Given the description of an element on the screen output the (x, y) to click on. 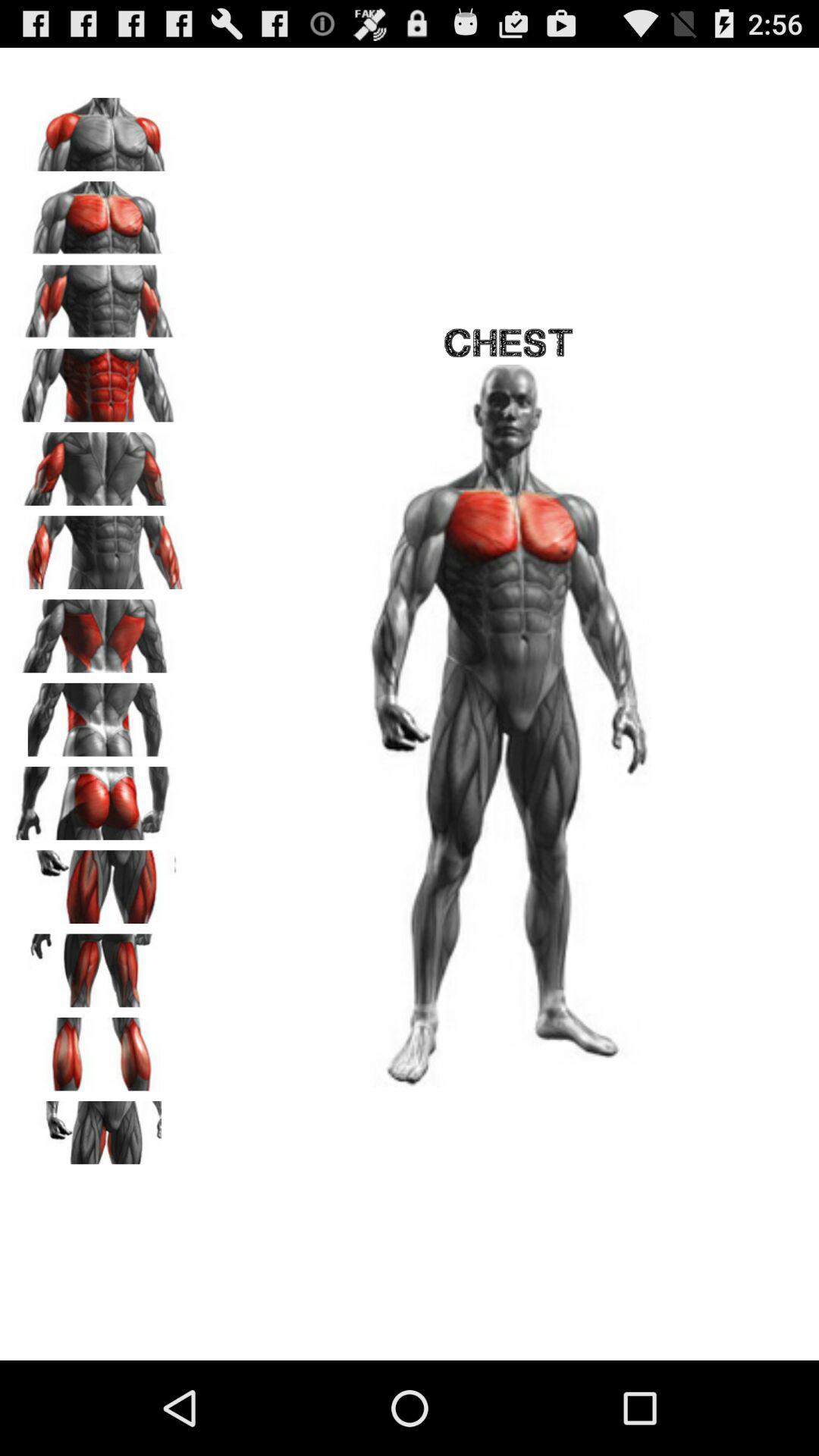
select gluteus maximus (99, 798)
